Given the description of an element on the screen output the (x, y) to click on. 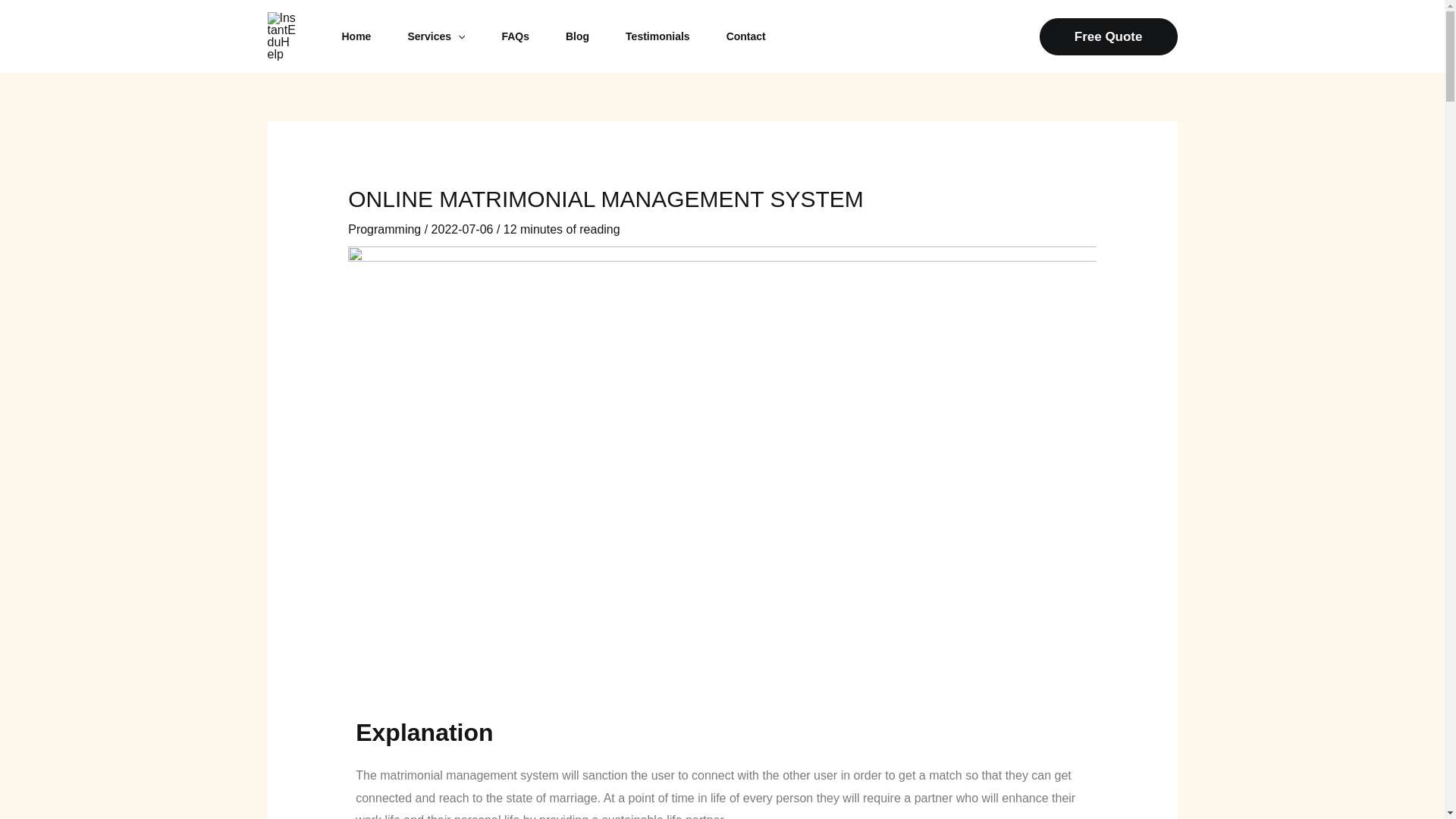
Services (435, 36)
FAQs (515, 36)
Free Quote (1108, 36)
Home (355, 36)
Blog (577, 36)
Contact (745, 36)
Testimonials (657, 36)
